Given the description of an element on the screen output the (x, y) to click on. 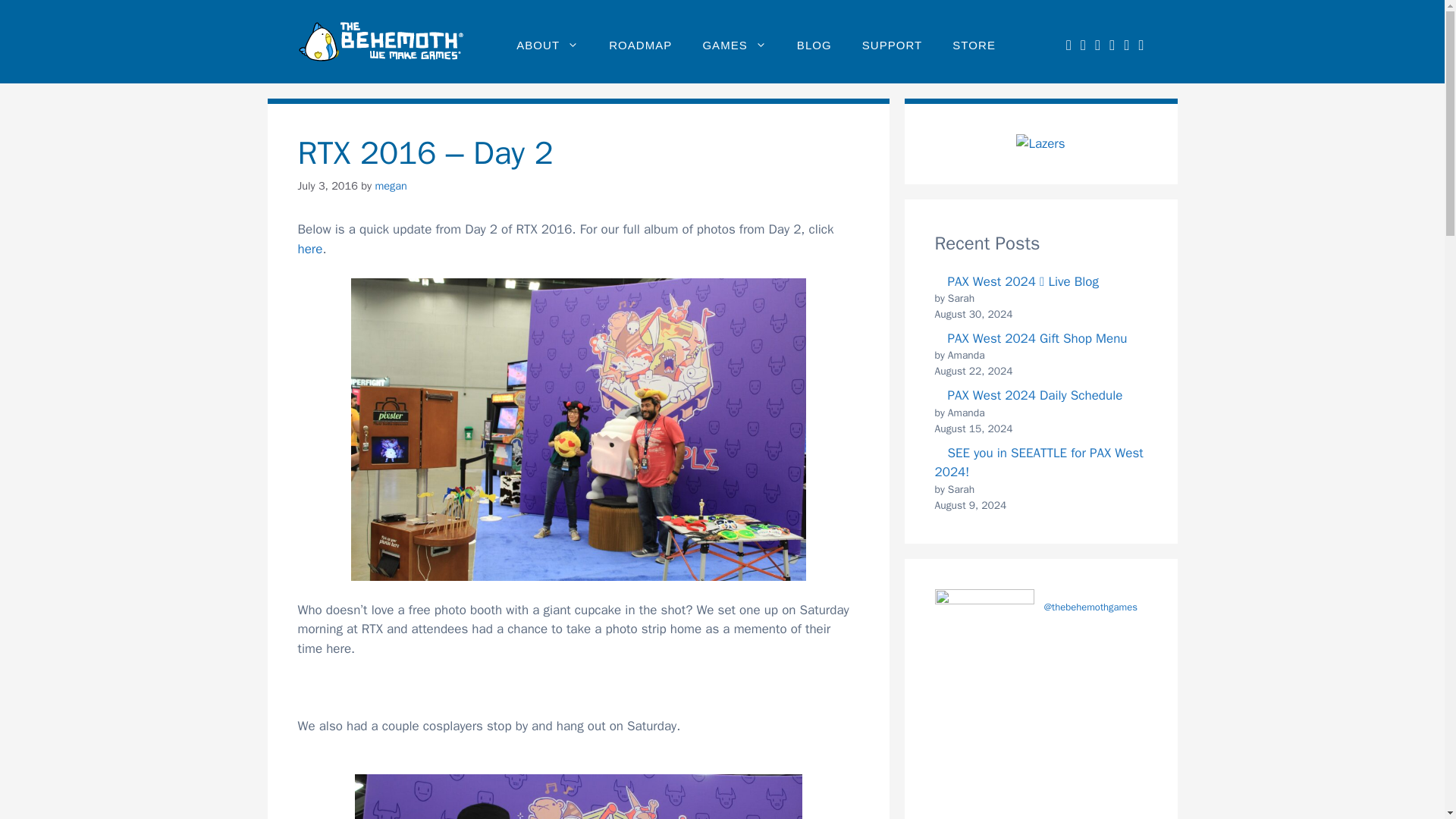
SUPPORT (892, 44)
ABOUT (547, 44)
GAMES (733, 44)
ROADMAP (640, 44)
STORE (973, 44)
View all posts by megan (390, 185)
BLOG (814, 44)
